Given the description of an element on the screen output the (x, y) to click on. 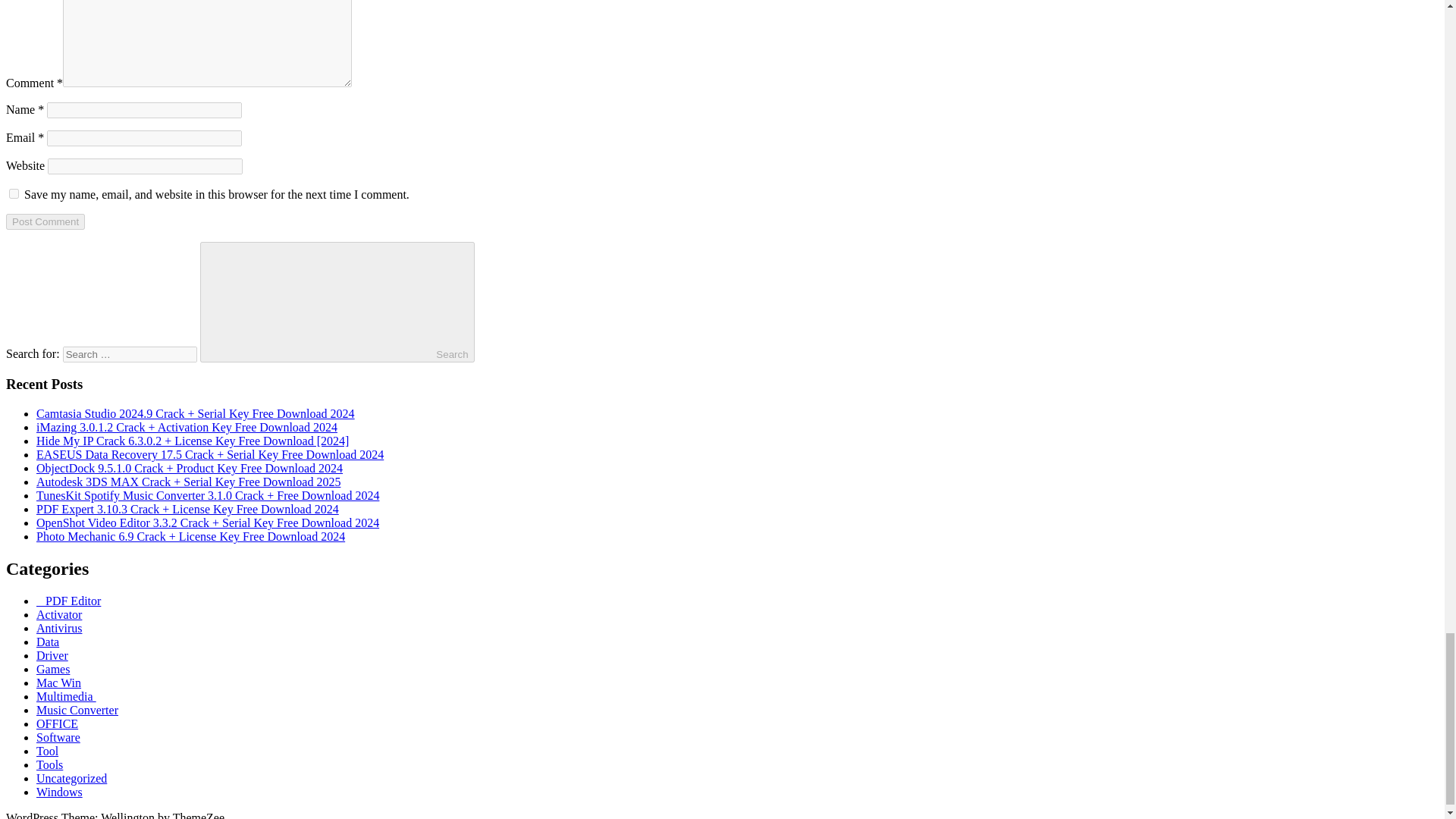
yes (13, 194)
Post Comment (44, 221)
